Given the description of an element on the screen output the (x, y) to click on. 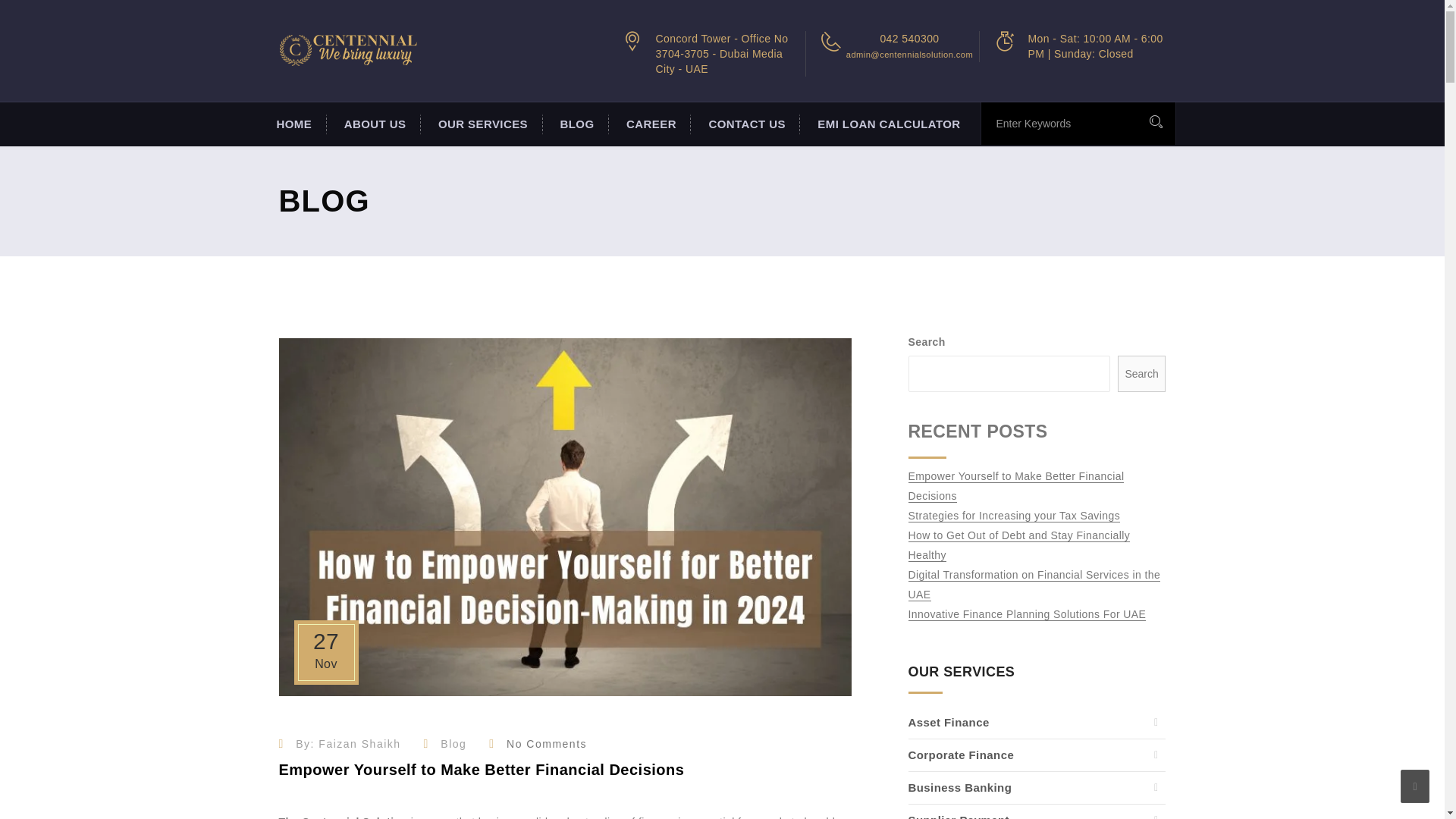
CONTACT US (744, 124)
Empower Yourself to Make Better Financial Decisions (481, 775)
EMI LOAN CALCULATOR (886, 124)
ABOUT US (373, 124)
No Comments (546, 743)
042 540300 (909, 38)
HOME (292, 124)
CAREER (649, 124)
OUR SERVICES (481, 124)
BLOG (576, 124)
